Given the description of an element on the screen output the (x, y) to click on. 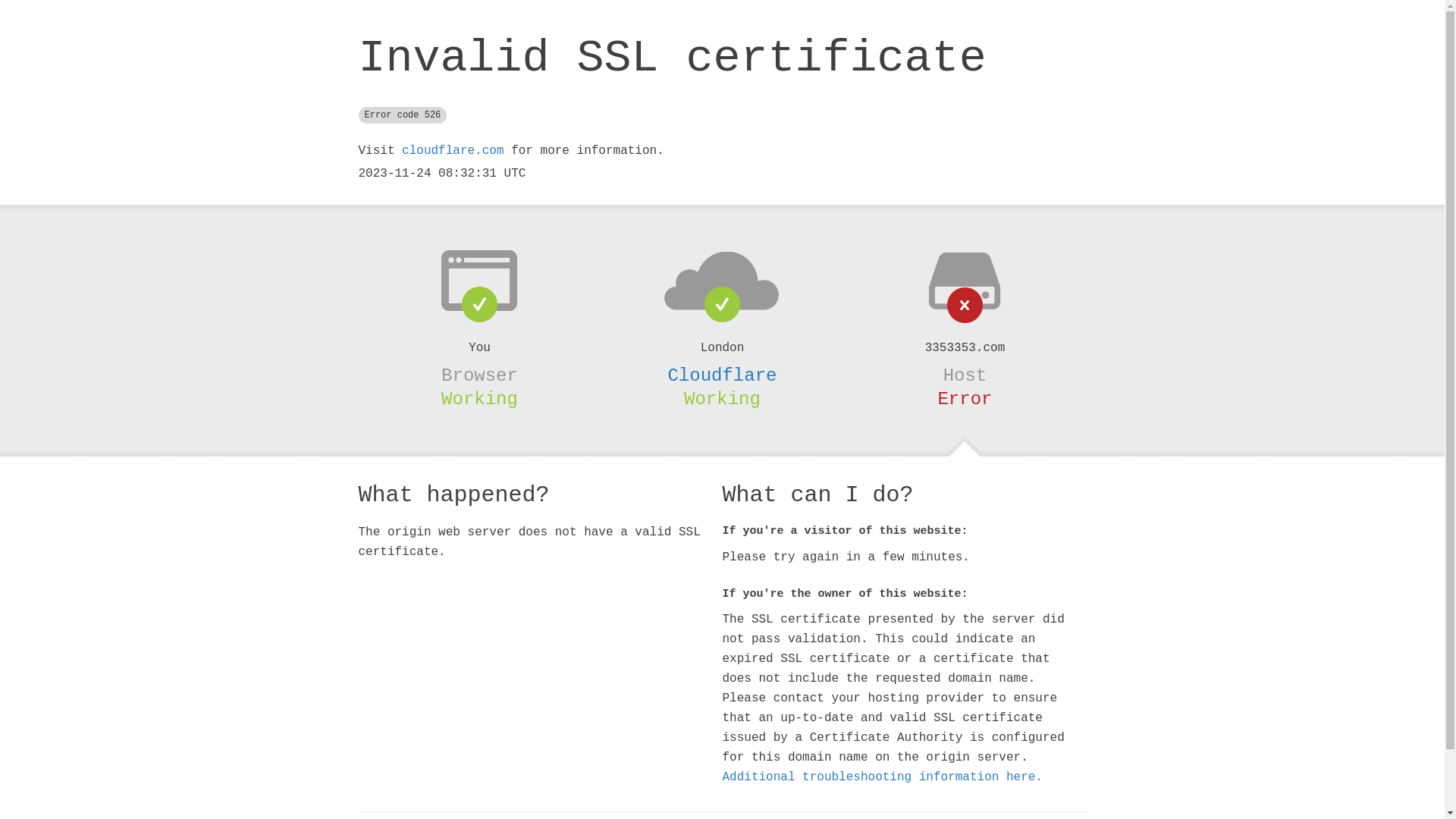
Cloudflare Element type: text (721, 375)
Additional troubleshooting information here. Element type: text (881, 777)
cloudflare.com Element type: text (452, 150)
